Given the description of an element on the screen output the (x, y) to click on. 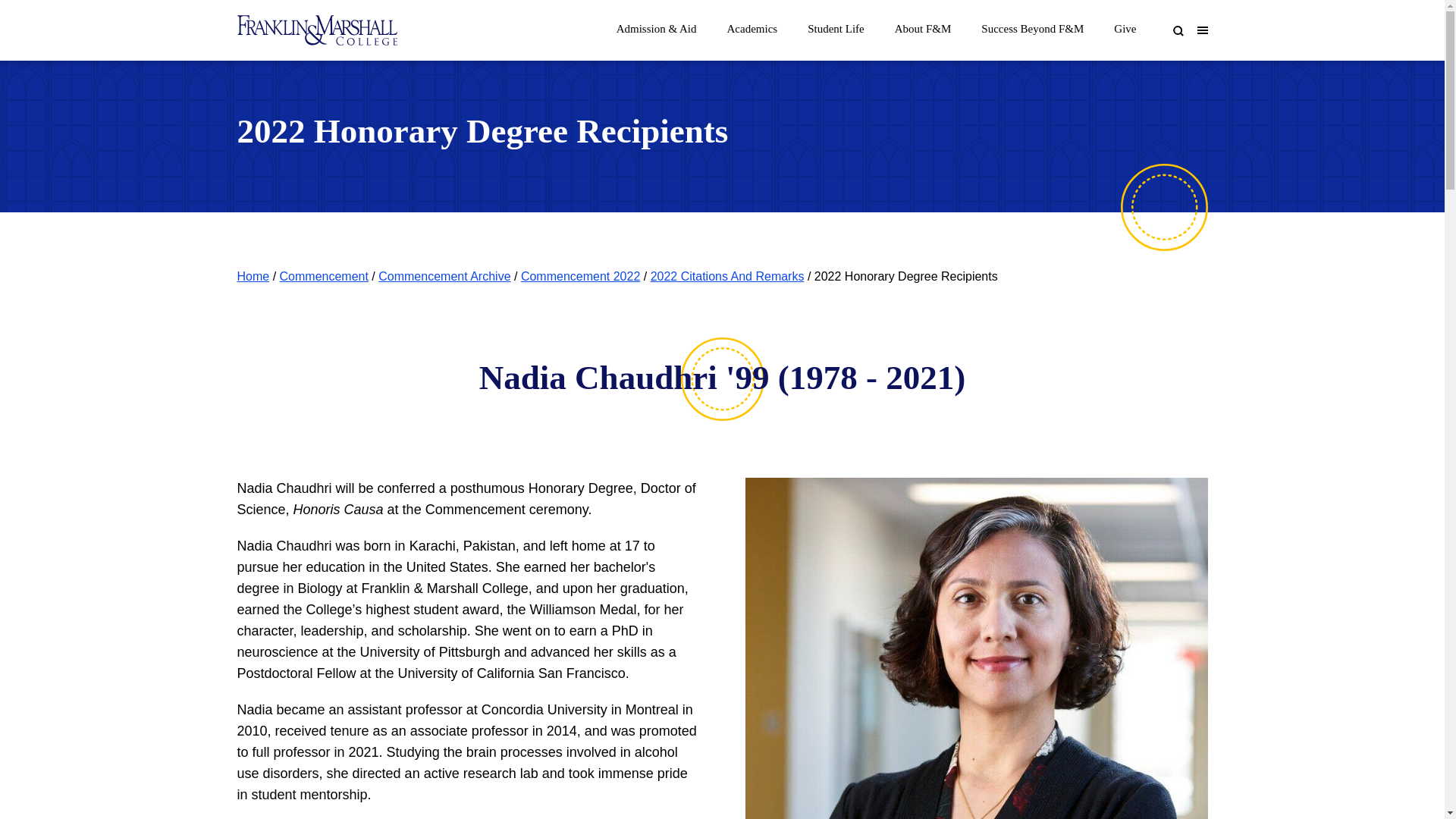
Academics (751, 24)
Student Life (836, 24)
